Given the description of an element on the screen output the (x, y) to click on. 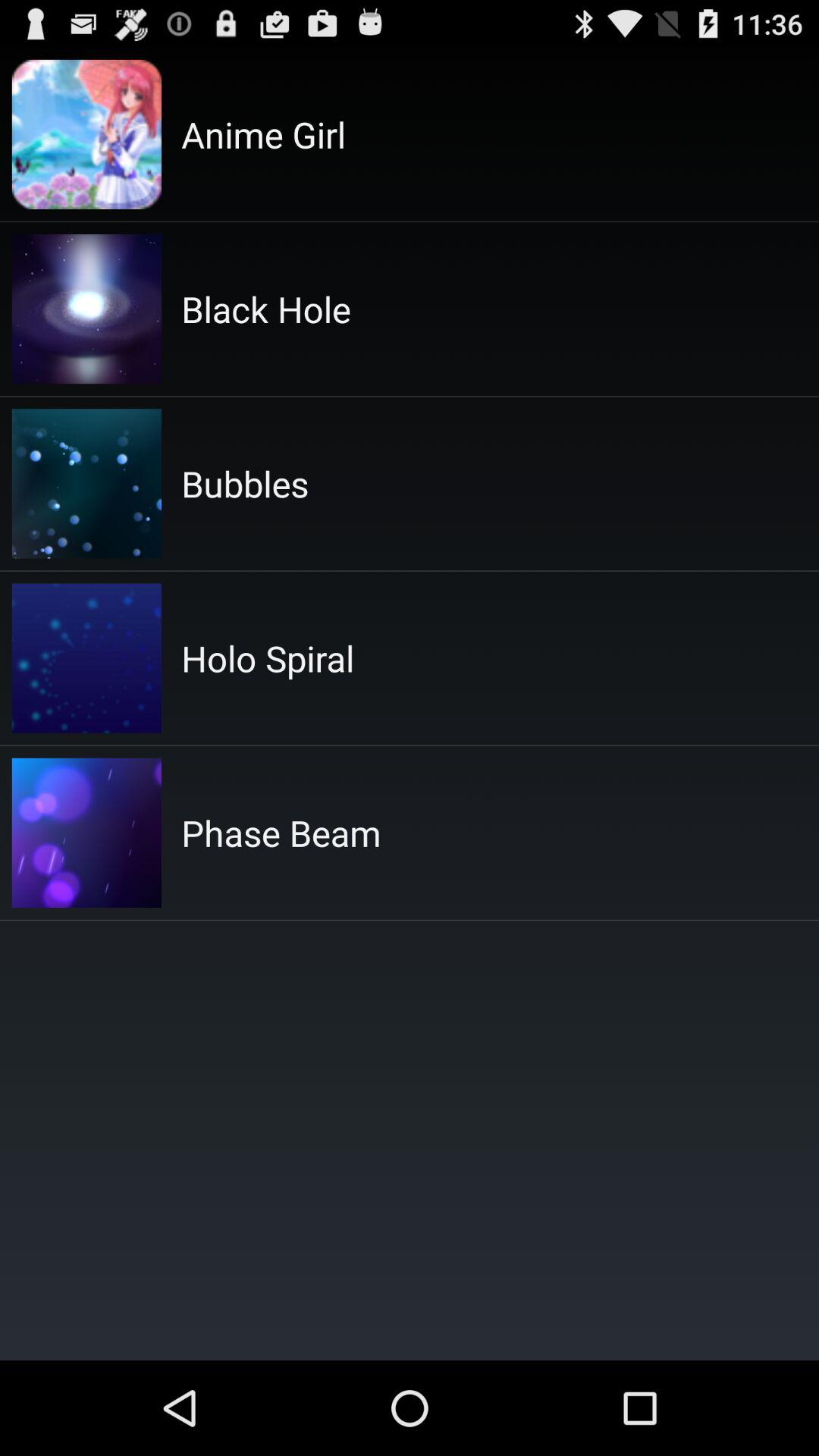
turn off item above phase beam (267, 658)
